Given the description of an element on the screen output the (x, y) to click on. 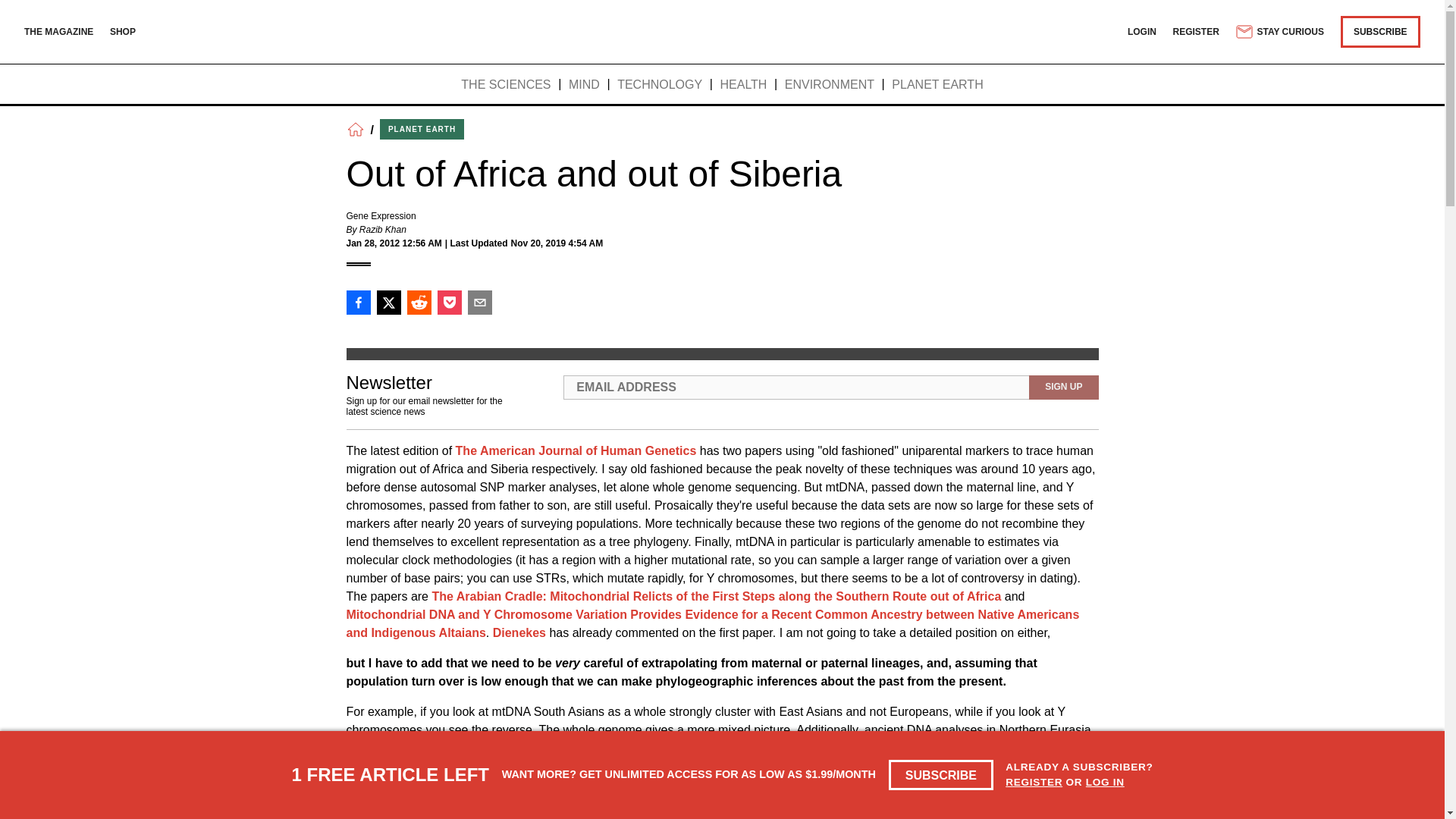
MIND (584, 84)
SIGN UP (1063, 387)
Gene Expression (380, 215)
email me (780, 784)
SHOP (122, 31)
The American Journal of Human Genetics (576, 450)
LOG IN (1105, 781)
STAY CURIOUS (1278, 31)
Razib Khan (382, 229)
